Given the description of an element on the screen output the (x, y) to click on. 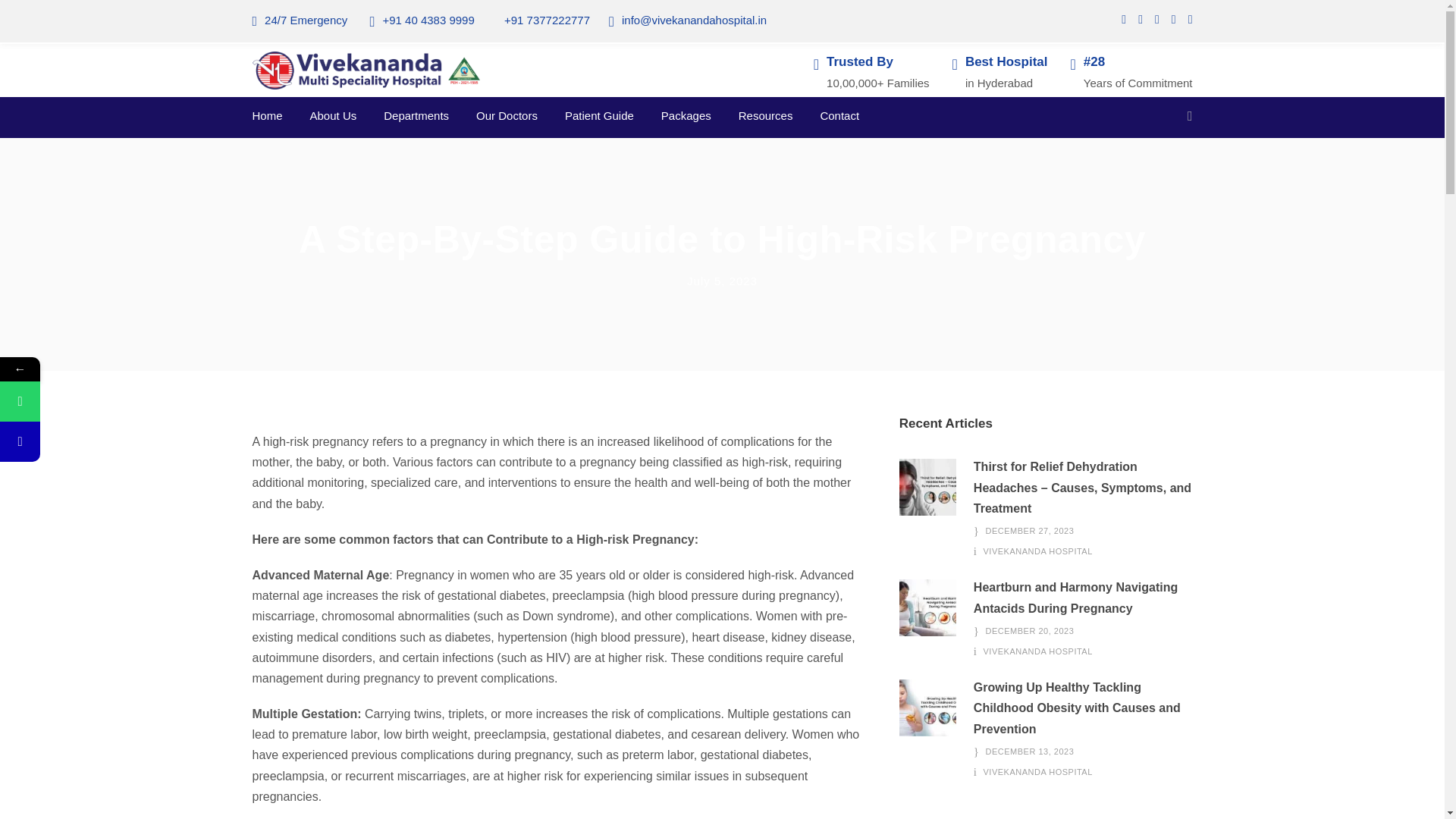
Posts by Vivekananda Hospital (1038, 771)
Posts by Vivekananda Hospital (1038, 651)
Heartburn and Harmony Navigating Antacids During Pregnancy (927, 607)
Posts by Vivekananda Hospital (1038, 551)
